Given the description of an element on the screen output the (x, y) to click on. 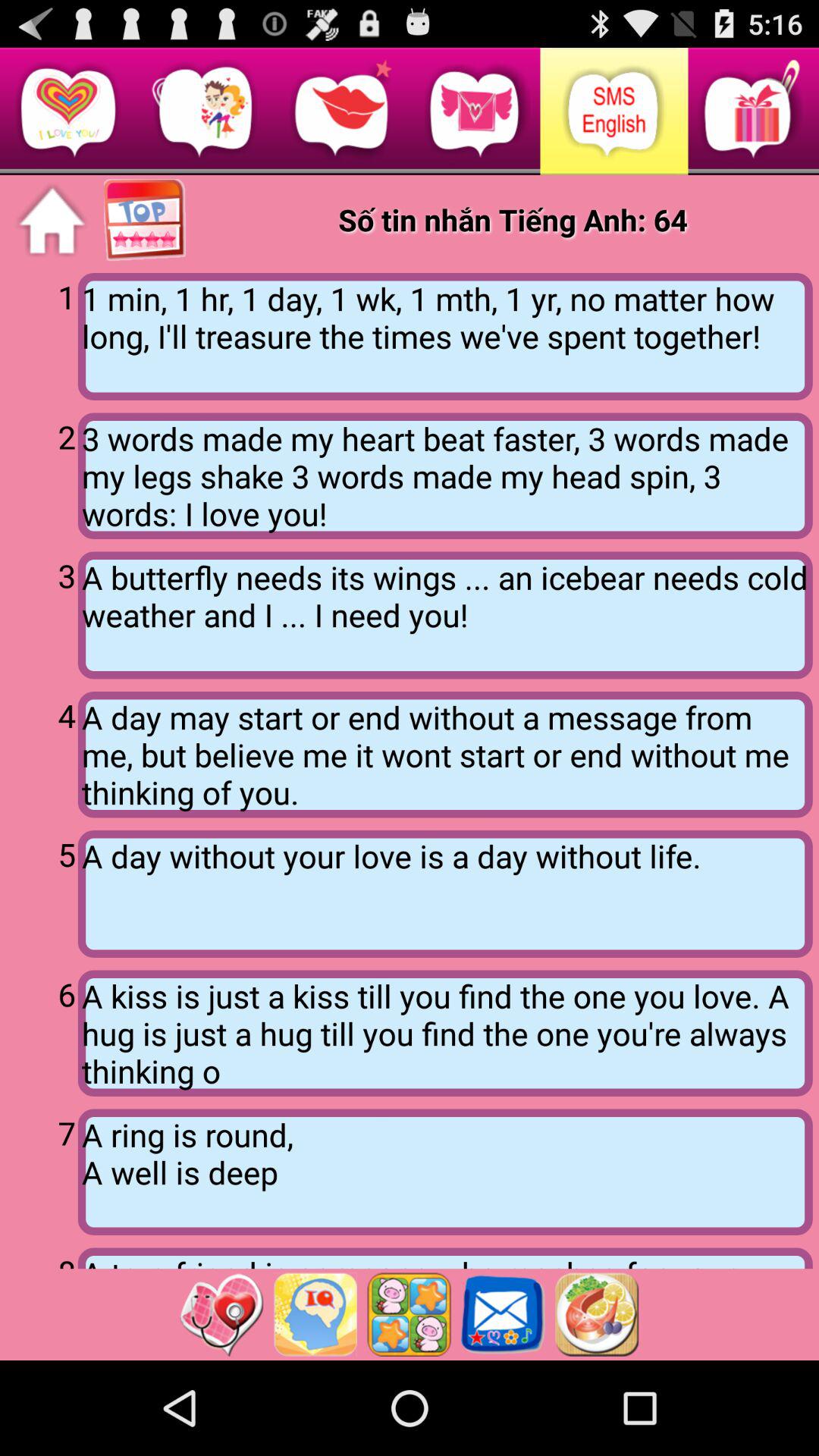
iq section (315, 1314)
